Given the description of an element on the screen output the (x, y) to click on. 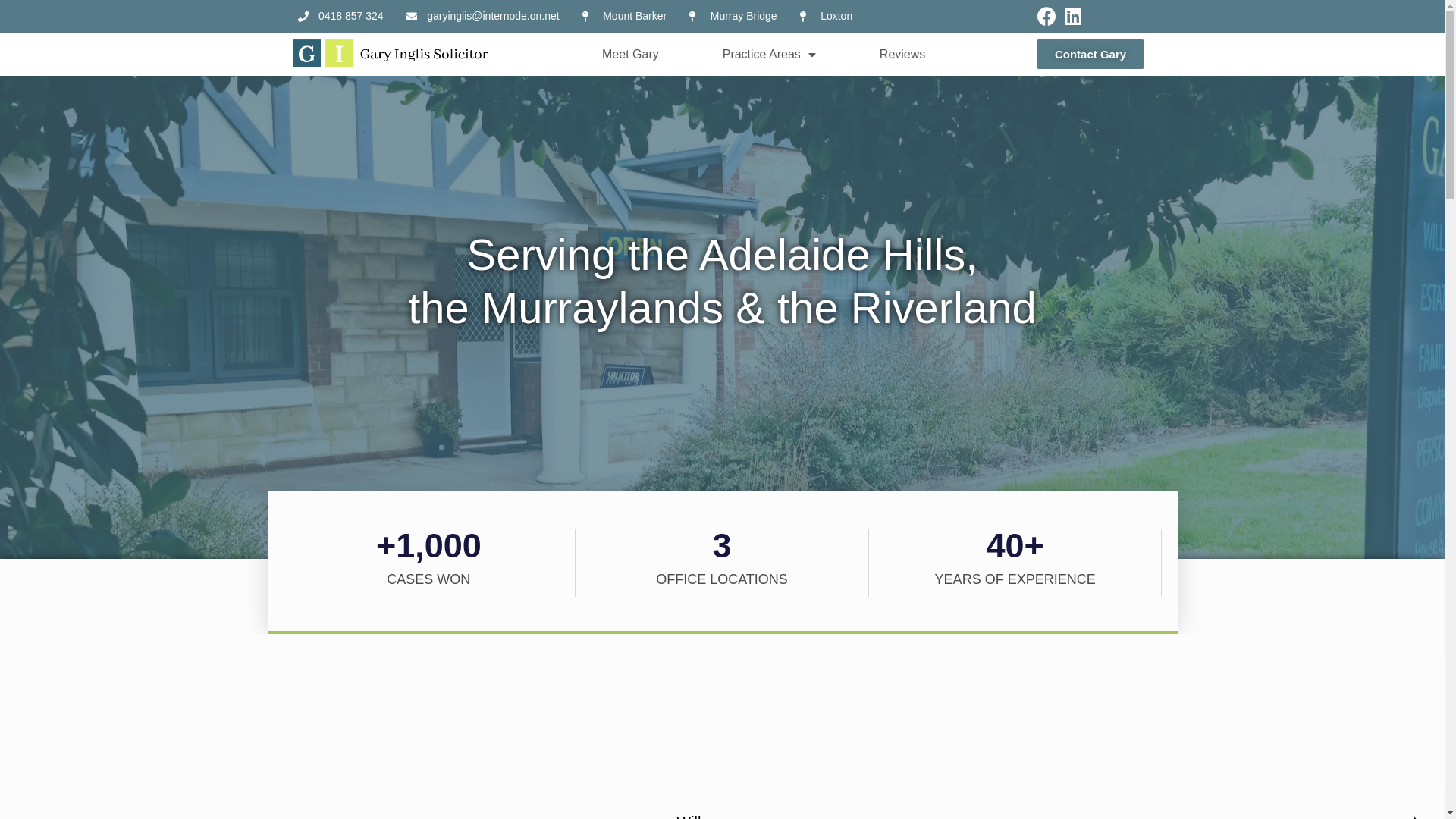
Practice Areas Element type: text (769, 54)
Loxton Element type: text (826, 16)
Contact Gary Element type: text (1090, 54)
Skip to content Element type: text (15, 7)
garyinglis@internode.on.net Element type: text (482, 16)
Meet Gary Element type: text (630, 54)
Reviews Element type: text (902, 54)
Mount Barker Element type: text (624, 16)
Murray Bridge Element type: text (732, 16)
